Given the description of an element on the screen output the (x, y) to click on. 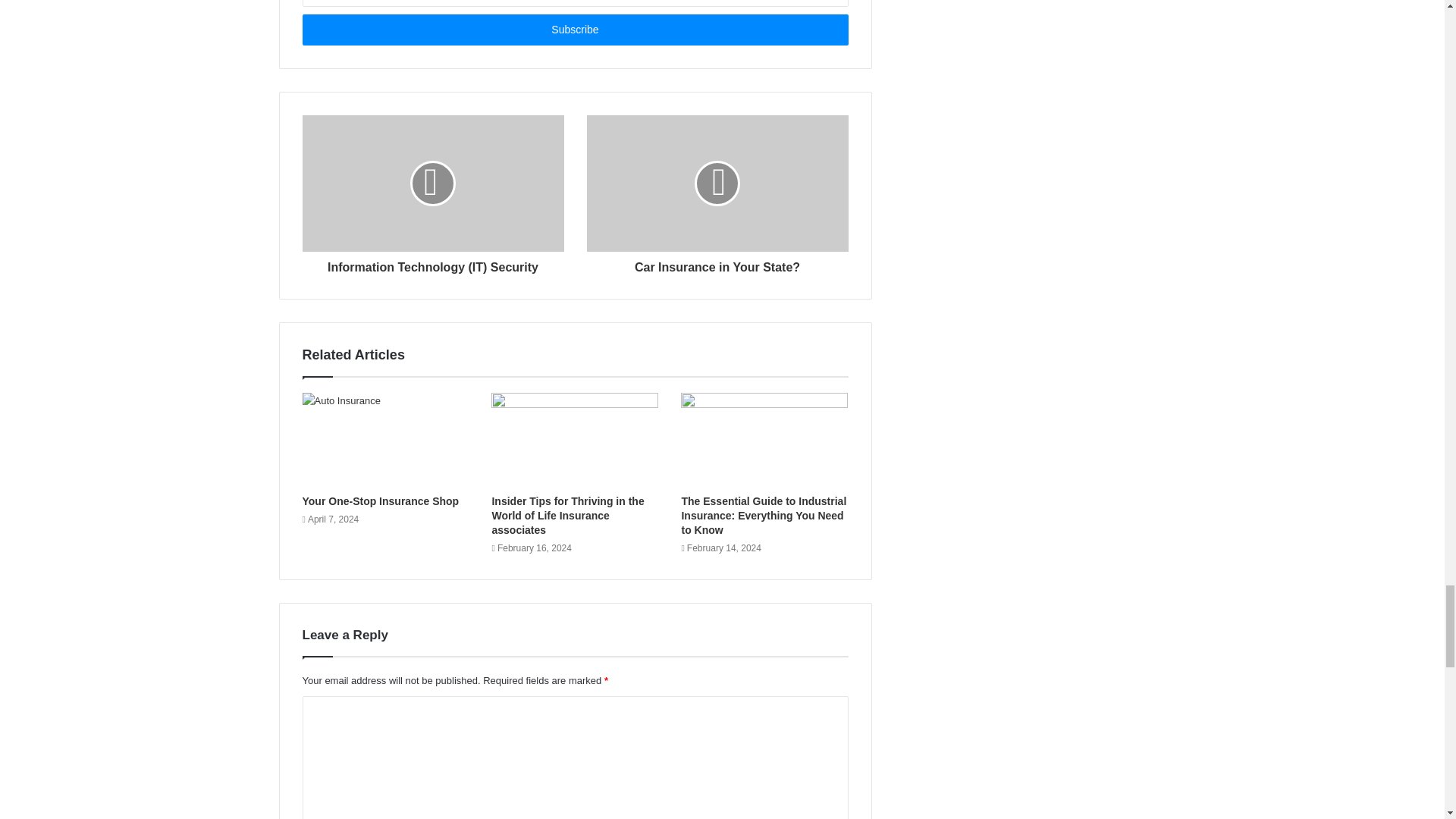
Subscribe (574, 29)
